Given the description of an element on the screen output the (x, y) to click on. 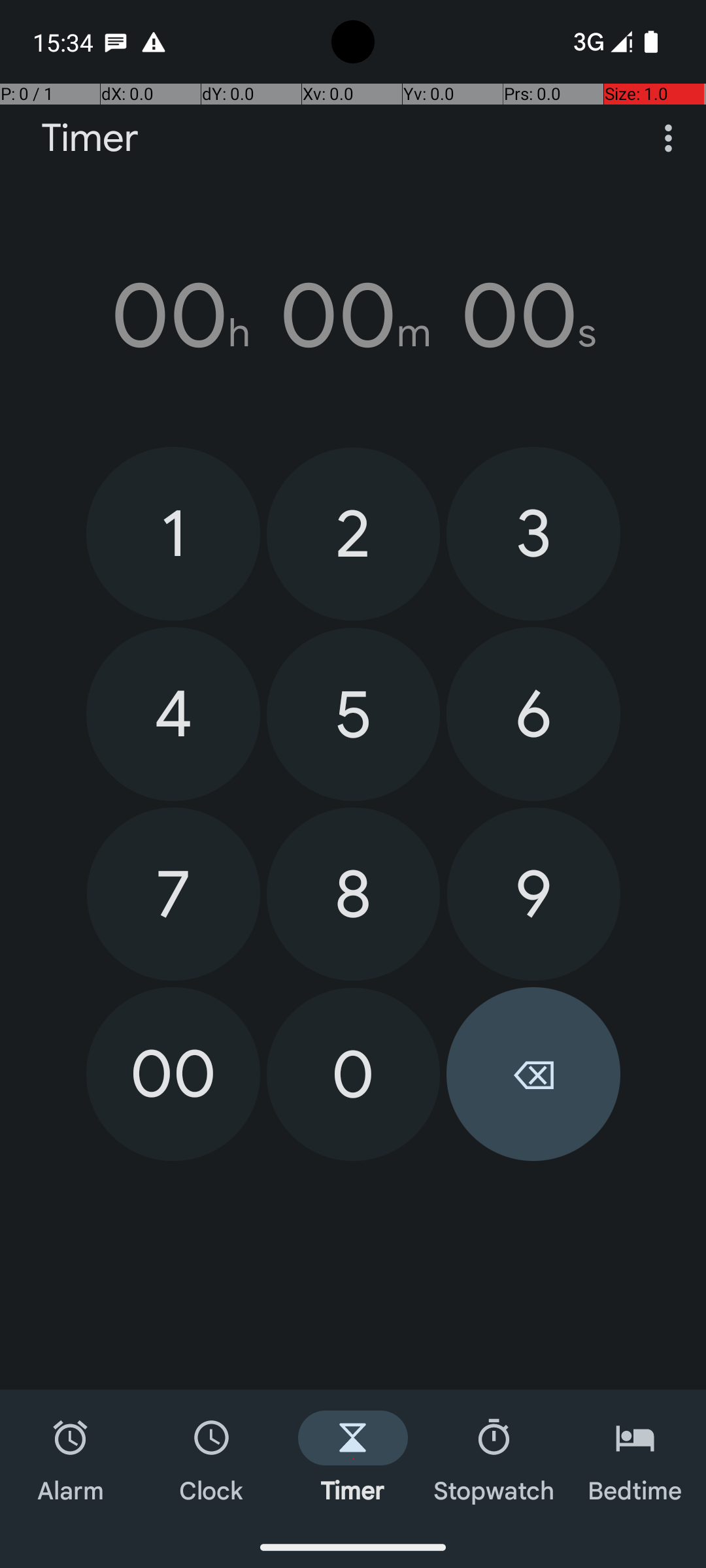
00h 00m 00s Element type: android.widget.TextView (353, 315)
